Given the description of an element on the screen output the (x, y) to click on. 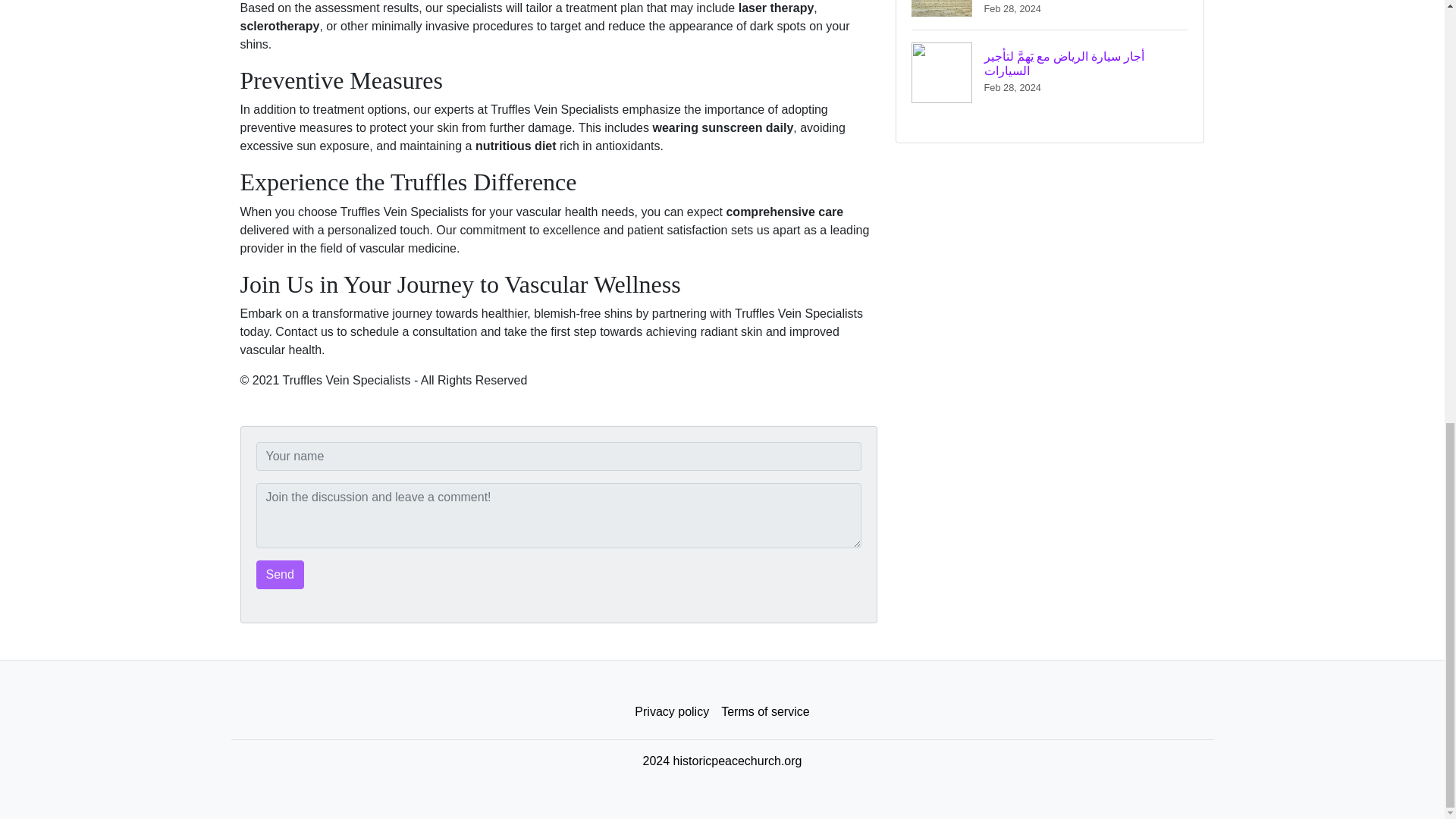
Send (280, 574)
Terms of service (764, 711)
Privacy policy (671, 711)
Send (280, 574)
